Given the description of an element on the screen output the (x, y) to click on. 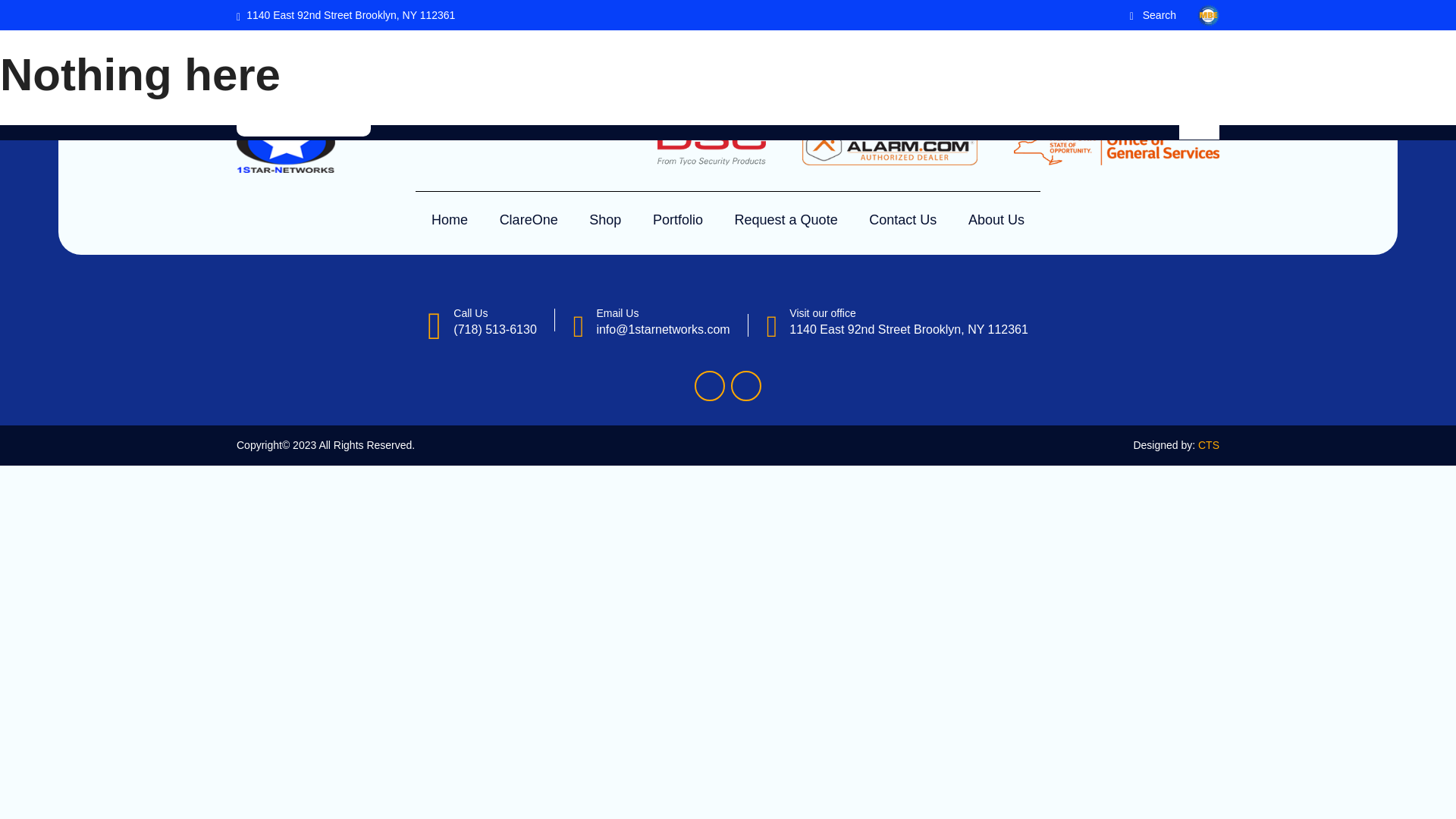
Search (1152, 15)
Home (581, 117)
Search (273, 75)
About Us (1082, 117)
Shop (723, 117)
Contact Us (902, 219)
Contact Us (997, 117)
ORDER NOW (1150, 62)
Search (273, 75)
Home (448, 219)
